Given the description of an element on the screen output the (x, y) to click on. 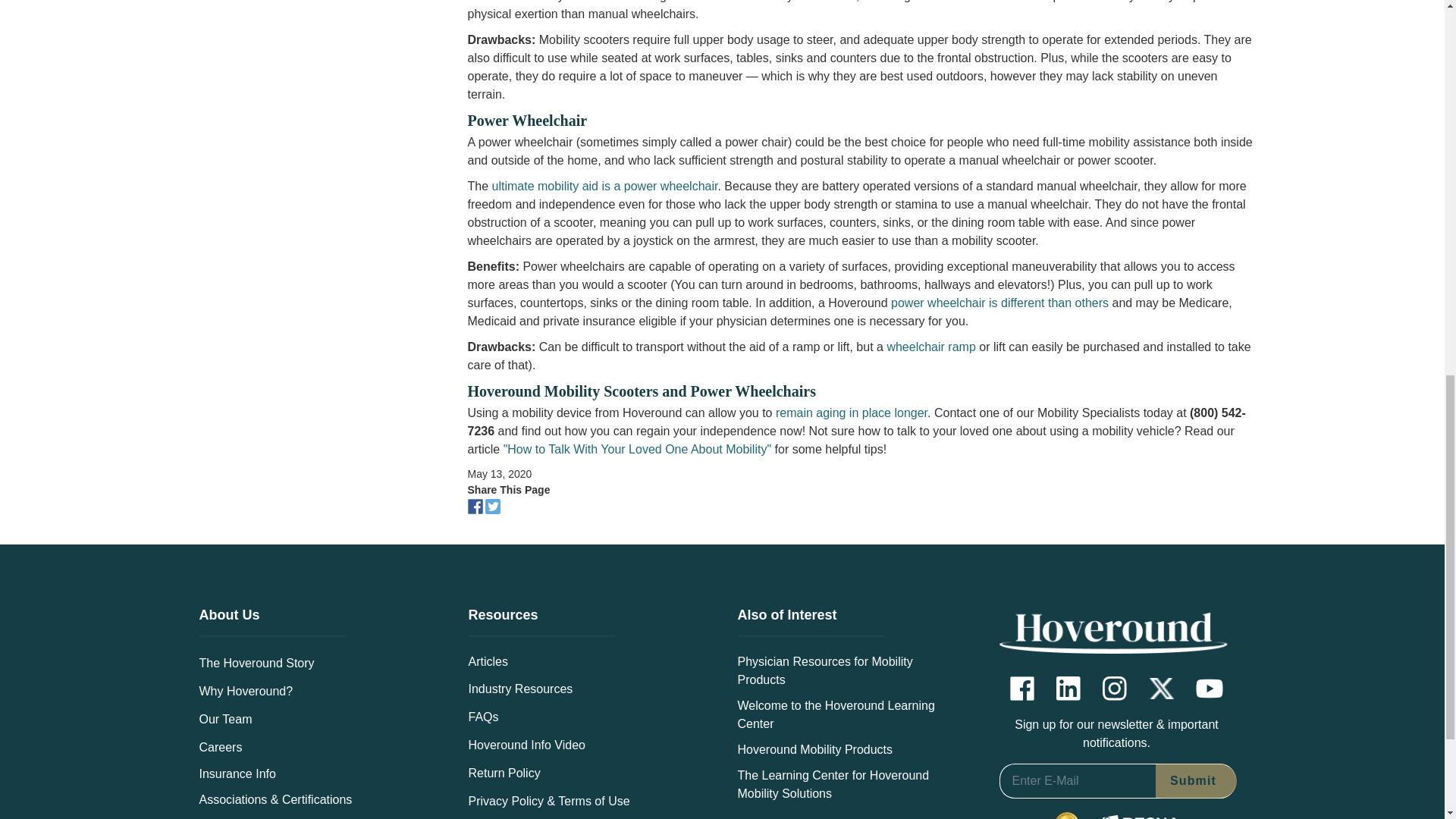
X (1161, 689)
Instagram (1114, 688)
Facebook (1021, 688)
Share on Facebook (475, 505)
Share on Twitter (493, 505)
LinkedIn (1068, 688)
